Given the description of an element on the screen output the (x, y) to click on. 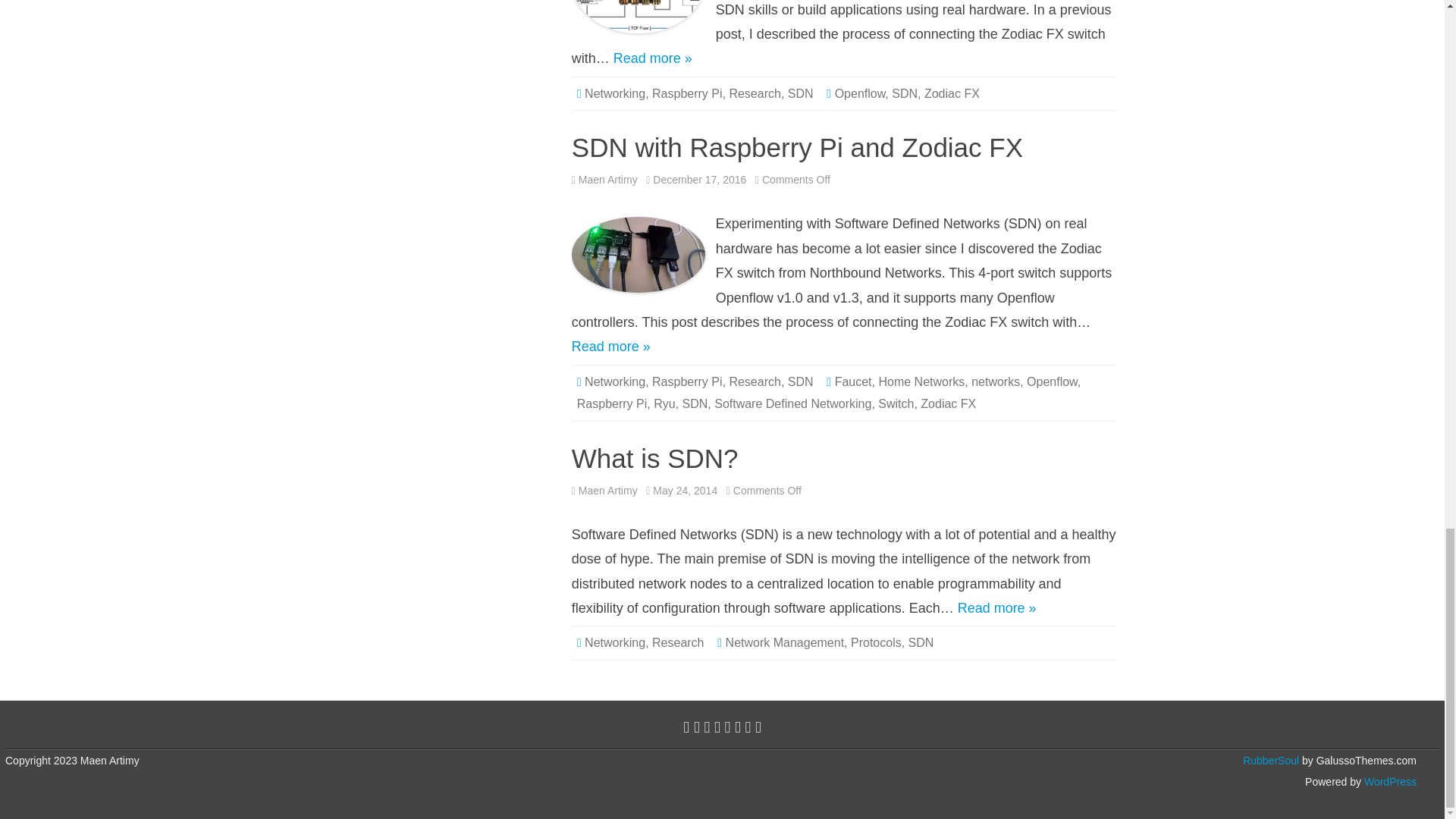
Twitter (685, 726)
